Given the description of an element on the screen output the (x, y) to click on. 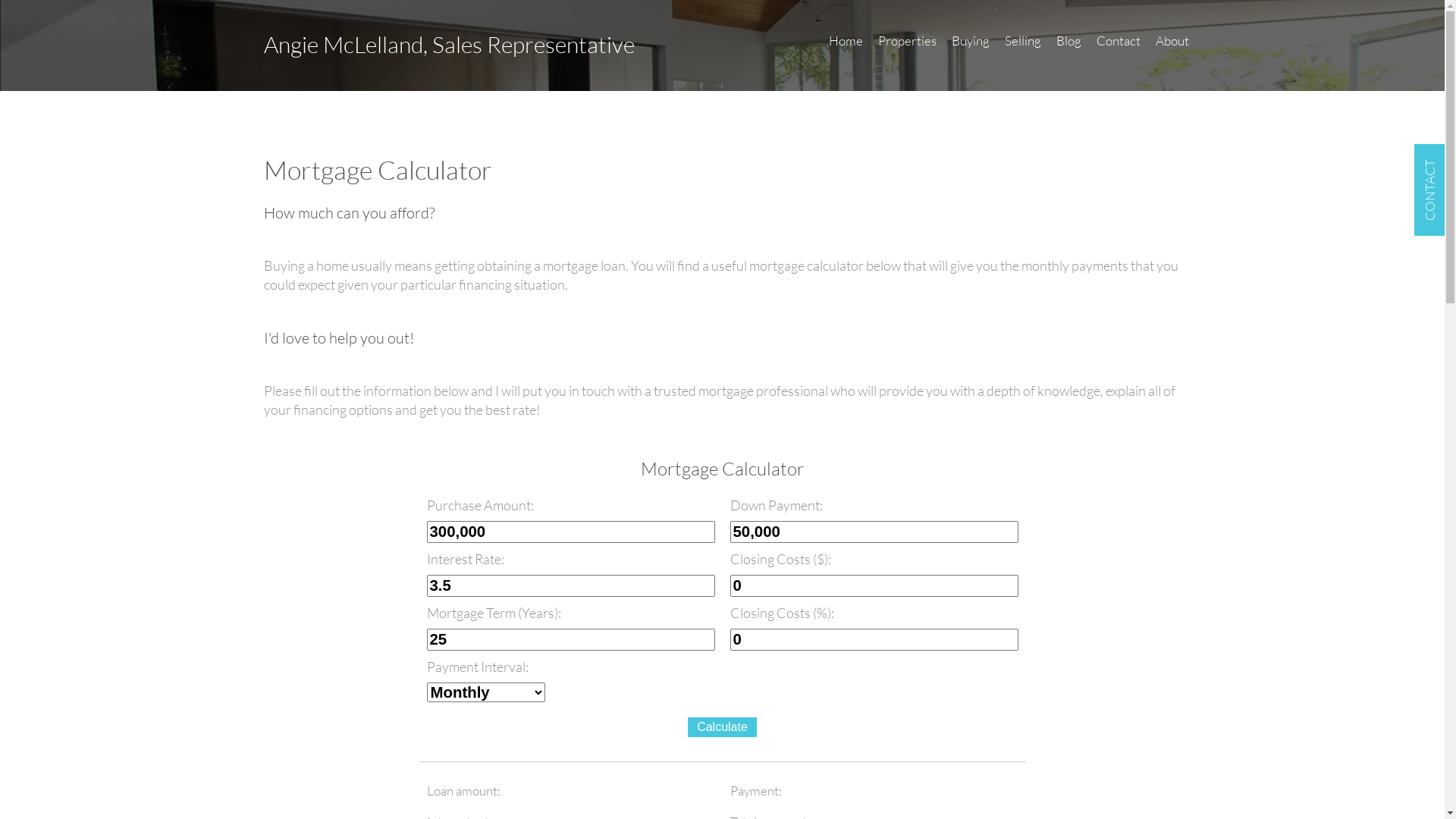
Blog Element type: text (1068, 46)
About Element type: text (1172, 46)
Home Element type: text (844, 46)
payment Element type: hover (974, 790)
Properties Element type: text (907, 46)
Calculate Element type: text (721, 727)
Buying Element type: text (969, 46)
totalAmount Element type: hover (671, 790)
Selling Element type: text (1022, 46)
Contact Element type: text (1118, 46)
